Given the description of an element on the screen output the (x, y) to click on. 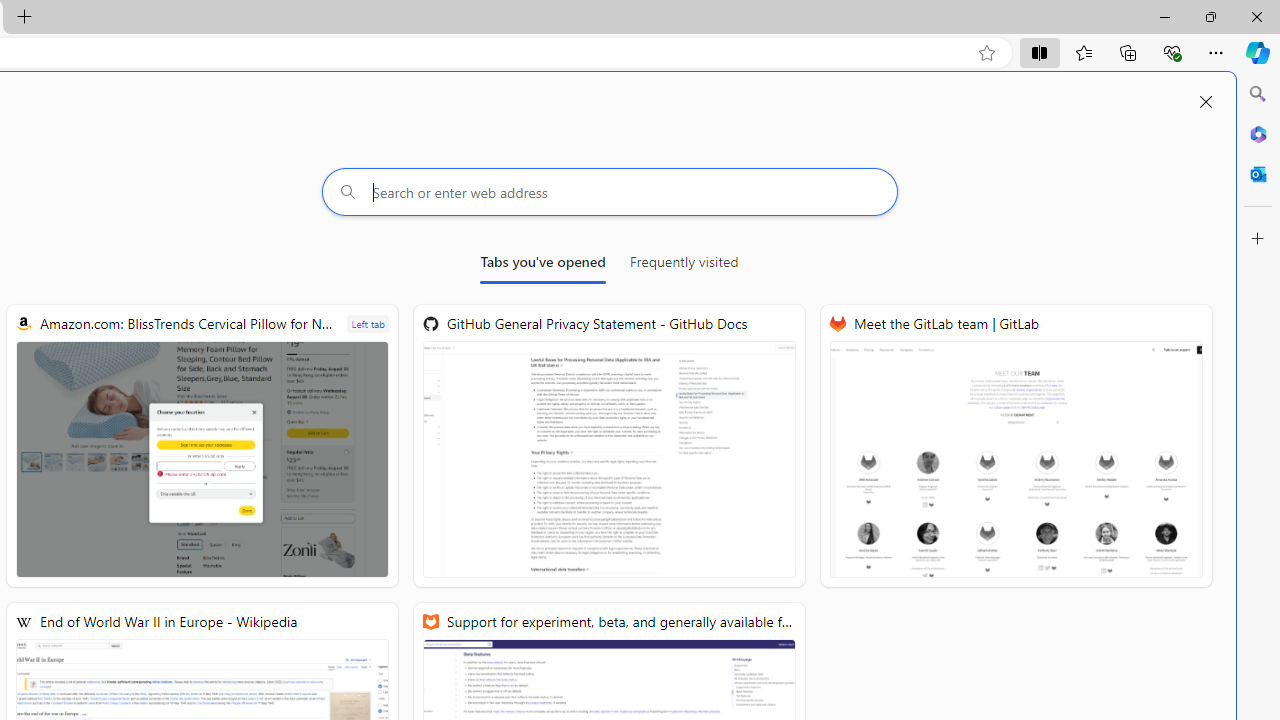
Tabs you've opened (542, 265)
